Given the description of an element on the screen output the (x, y) to click on. 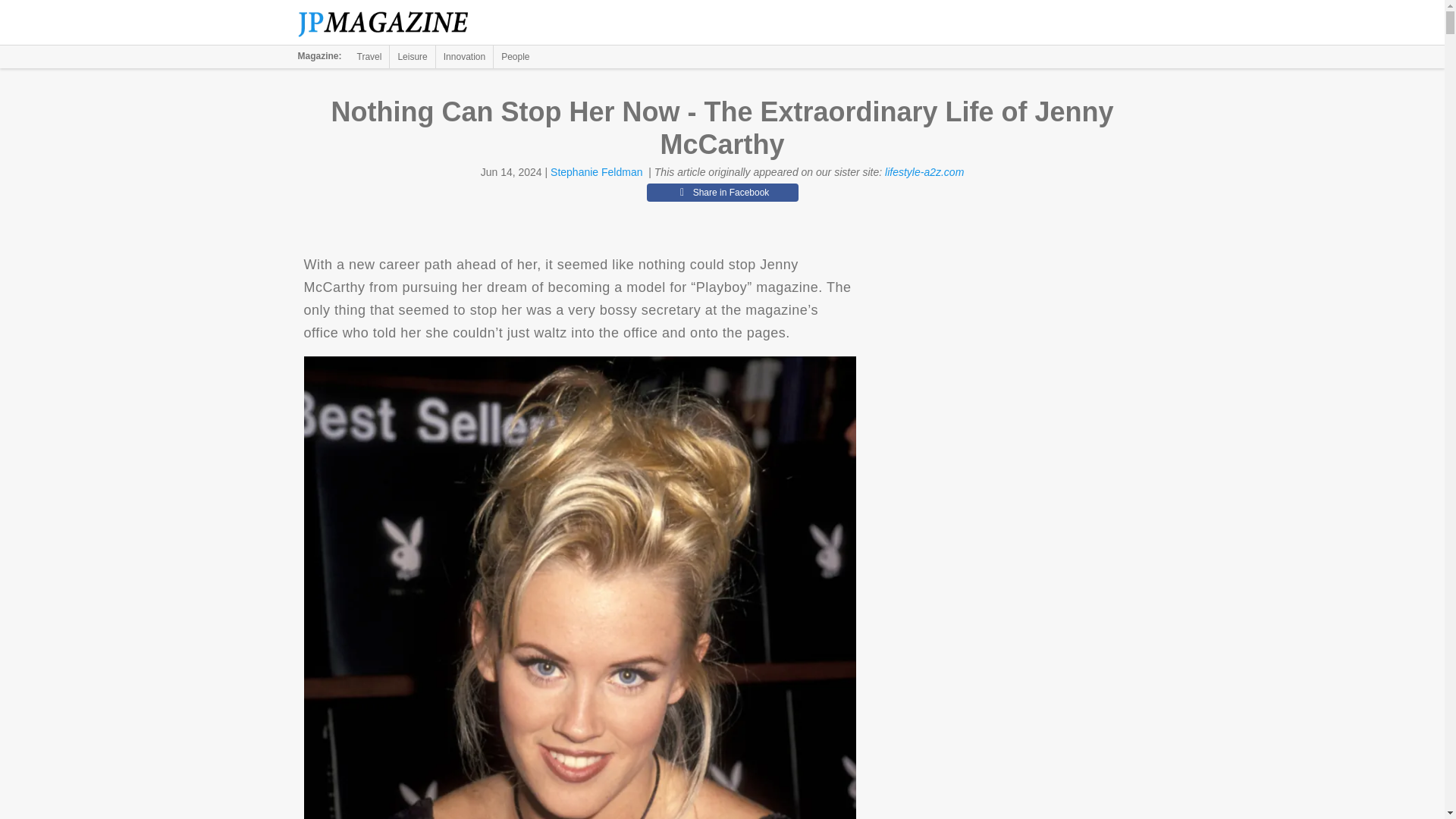
Travel (369, 56)
The Jerusalem Post Magazine (391, 22)
Stephanie Feldman (596, 172)
Leisure (411, 56)
Share in Facebook (721, 192)
lifestyle-a2z.com (924, 172)
Innovation (464, 56)
People (515, 56)
